Given the description of an element on the screen output the (x, y) to click on. 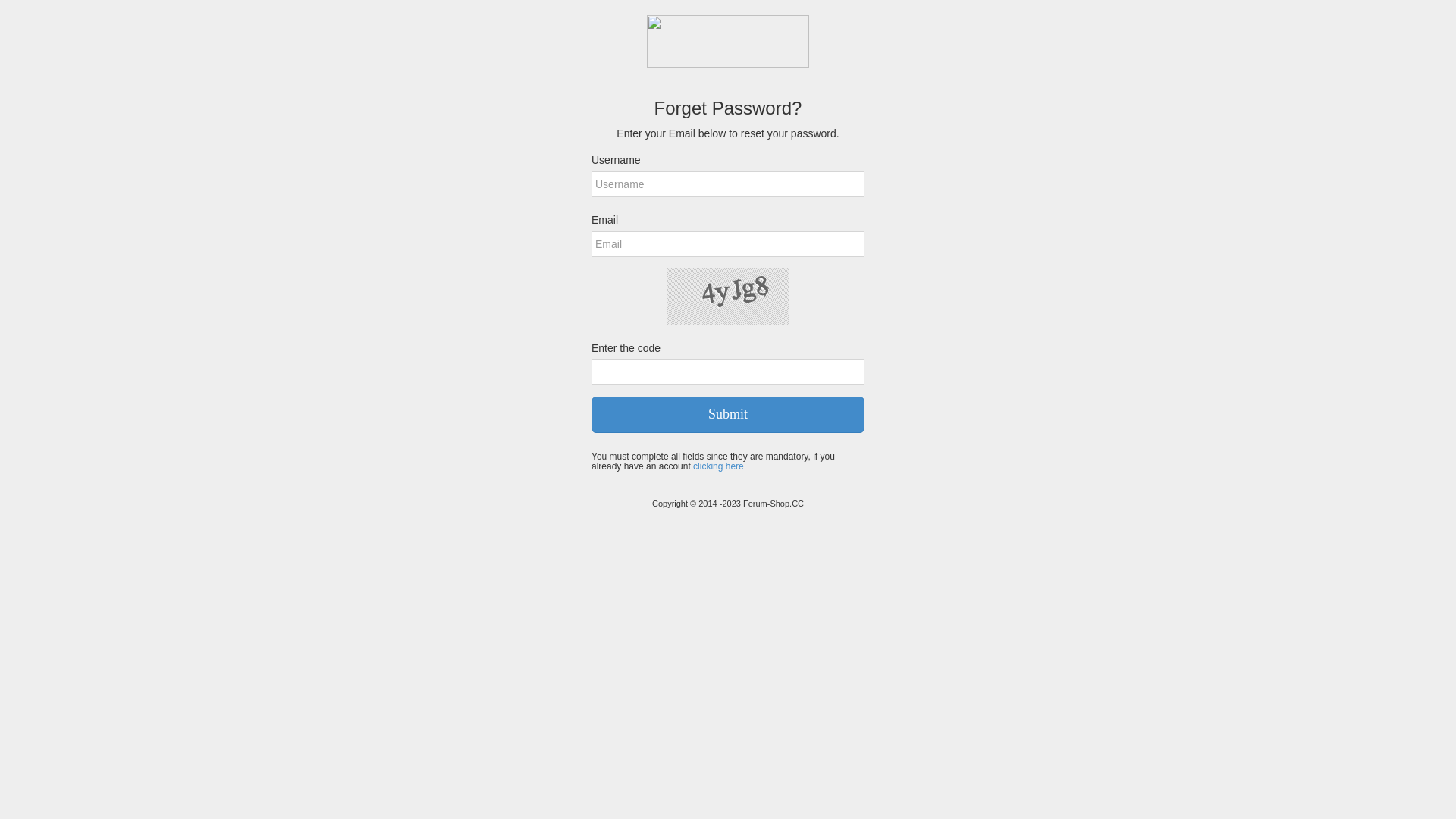
Submit Element type: text (727, 414)
Please enter captcha Element type: hover (727, 372)
clicking here Element type: text (718, 466)
